Given the description of an element on the screen output the (x, y) to click on. 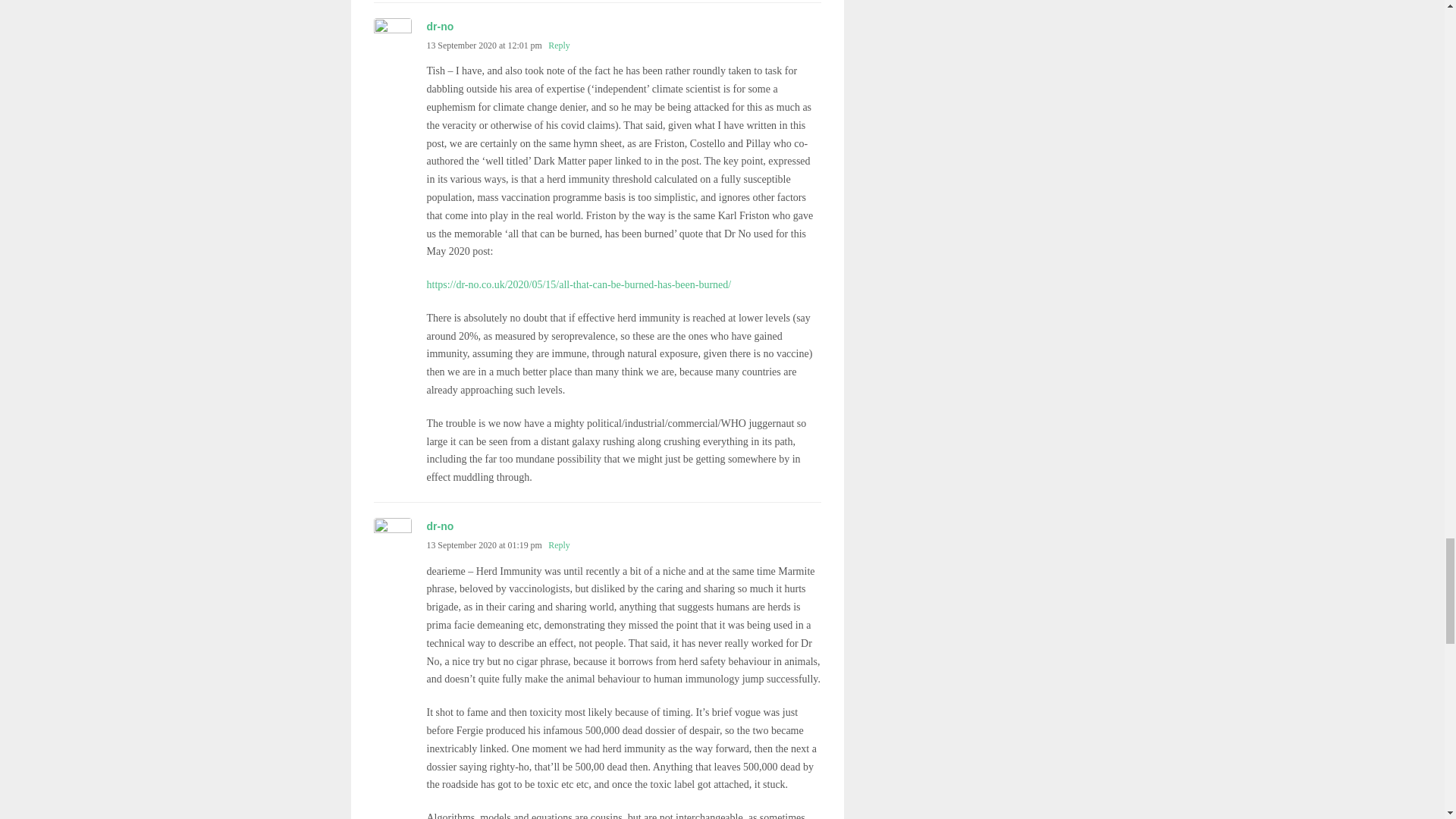
Reply (558, 544)
dr-no (439, 26)
Reply (558, 45)
dr-no (439, 526)
13 September 2020 at 12:01 pm (483, 45)
13 September 2020 at 01:19 pm (483, 544)
